Given the description of an element on the screen output the (x, y) to click on. 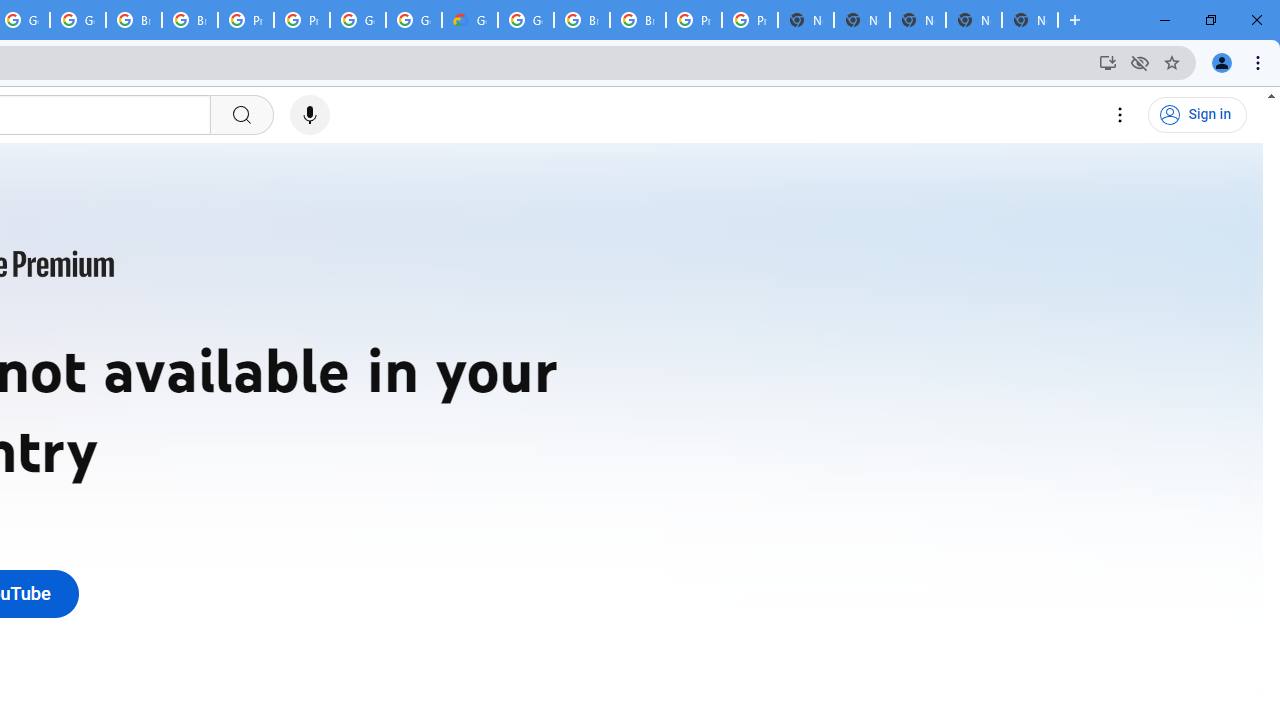
Search with your voice (309, 115)
Install YouTube (1107, 62)
Google Cloud Estimate Summary (469, 20)
Google Cloud Platform (413, 20)
